Given the description of an element on the screen output the (x, y) to click on. 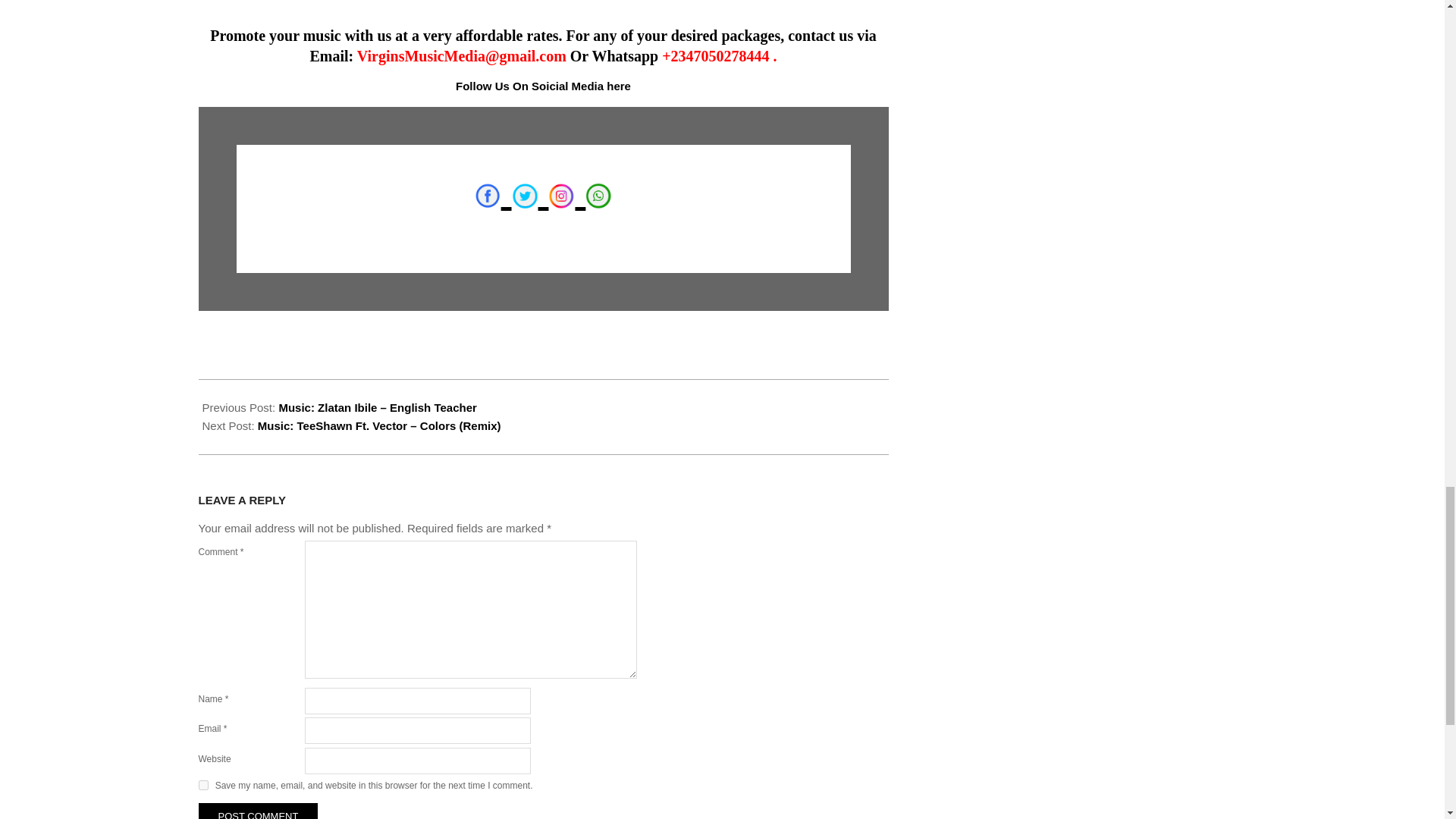
Facebook (487, 195)
Post Comment (258, 811)
Instagram (561, 195)
Post Comment (258, 811)
Twitter (525, 195)
yes (203, 785)
WhatsApp (598, 195)
